Given the description of an element on the screen output the (x, y) to click on. 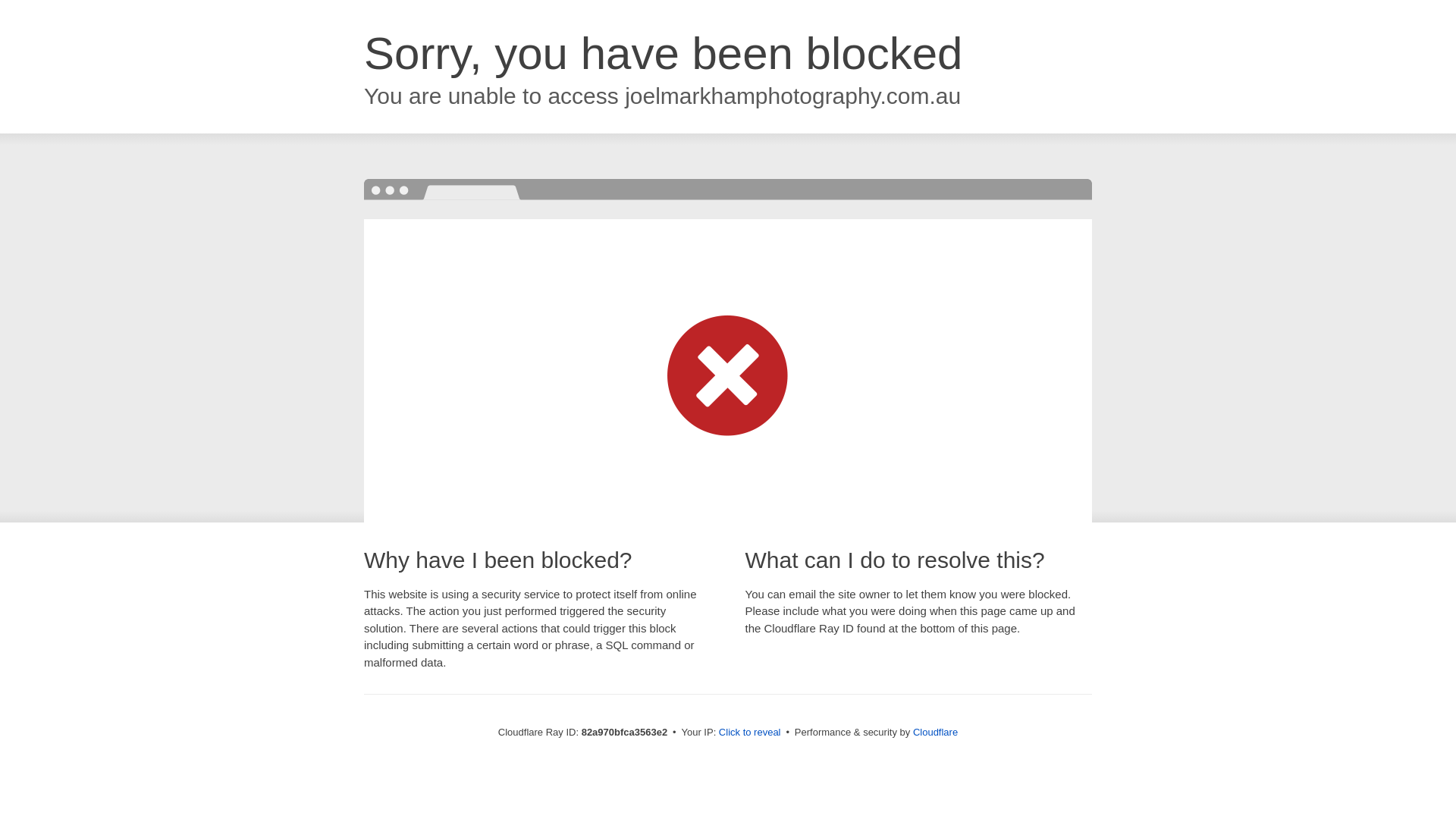
Click to reveal Element type: text (749, 732)
Cloudflare Element type: text (935, 731)
